Given the description of an element on the screen output the (x, y) to click on. 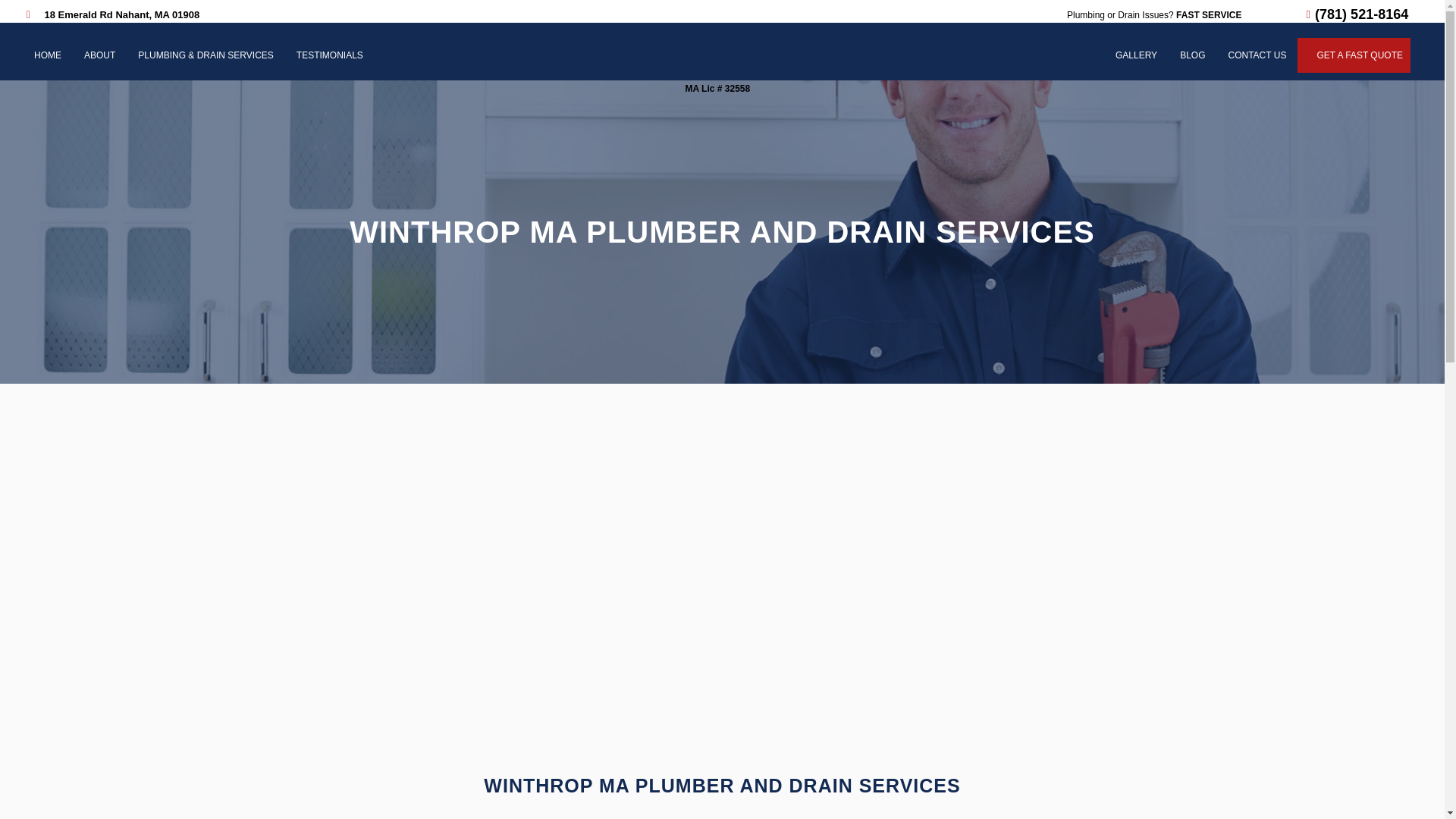
ABOUT (99, 54)
TESTIMONIALS (329, 54)
CONTACT US (1257, 54)
GET A FAST QUOTE (1359, 54)
GALLERY (1136, 54)
